Given the description of an element on the screen output the (x, y) to click on. 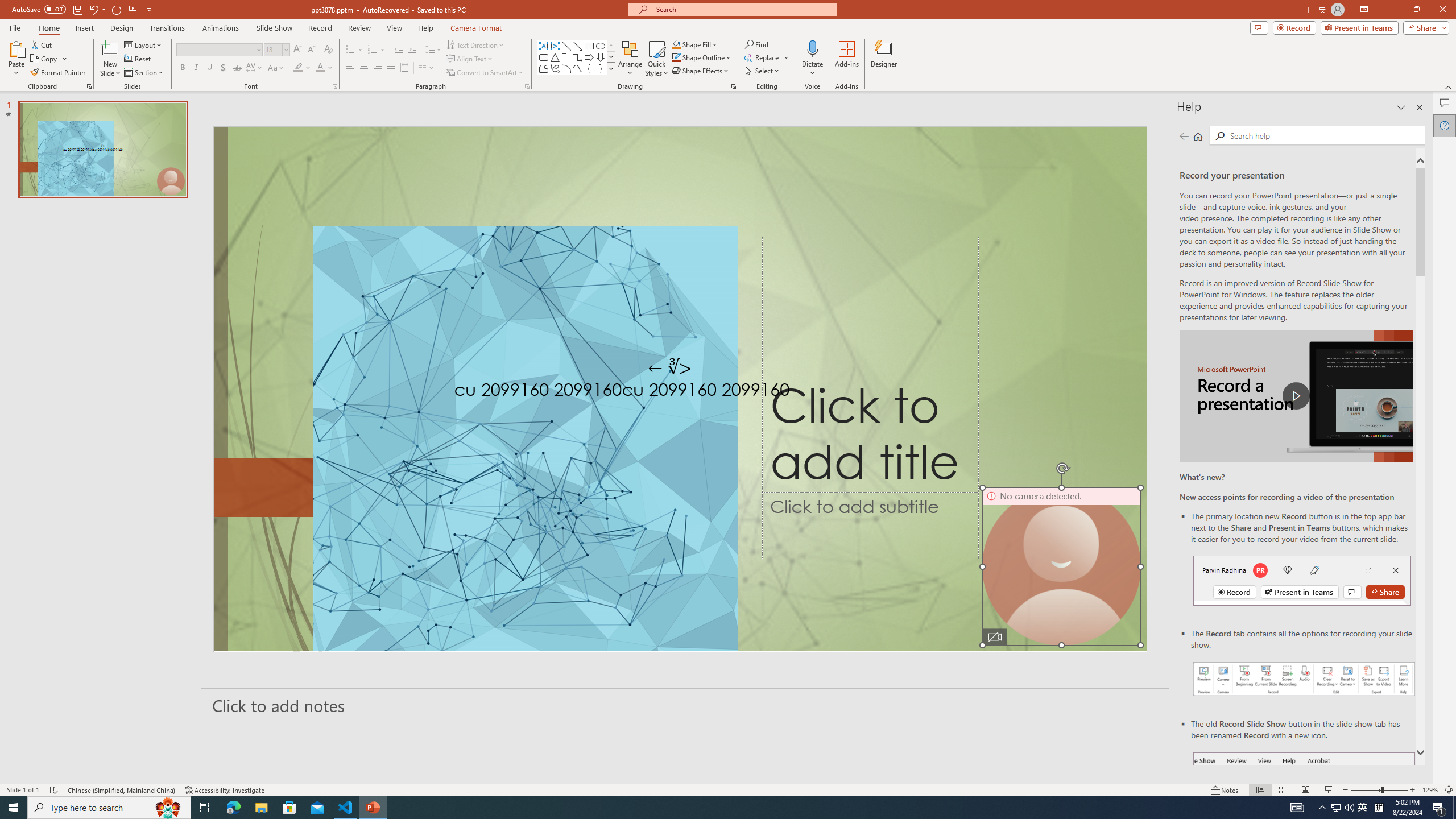
TextBox 61 (678, 391)
play Record a Presentation (1296, 395)
